Given the description of an element on the screen output the (x, y) to click on. 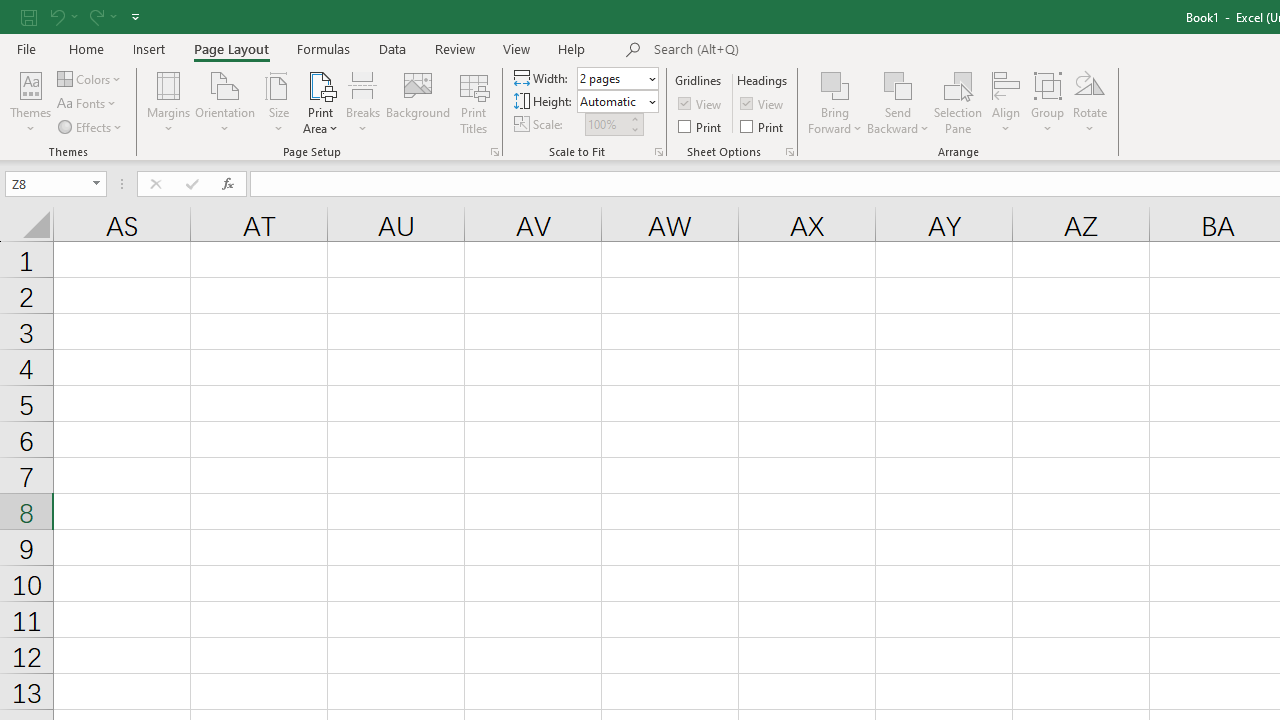
Open (96, 183)
Sheet Options (789, 151)
Width (618, 78)
Scale (605, 124)
Colors (90, 78)
System (10, 11)
Review (454, 48)
Print Titles (474, 102)
Effects (91, 126)
Height (618, 101)
Quick Access Toolbar (82, 16)
Home (86, 48)
Bring Forward (835, 84)
Send Backward (898, 102)
Background... (418, 102)
